Given the description of an element on the screen output the (x, y) to click on. 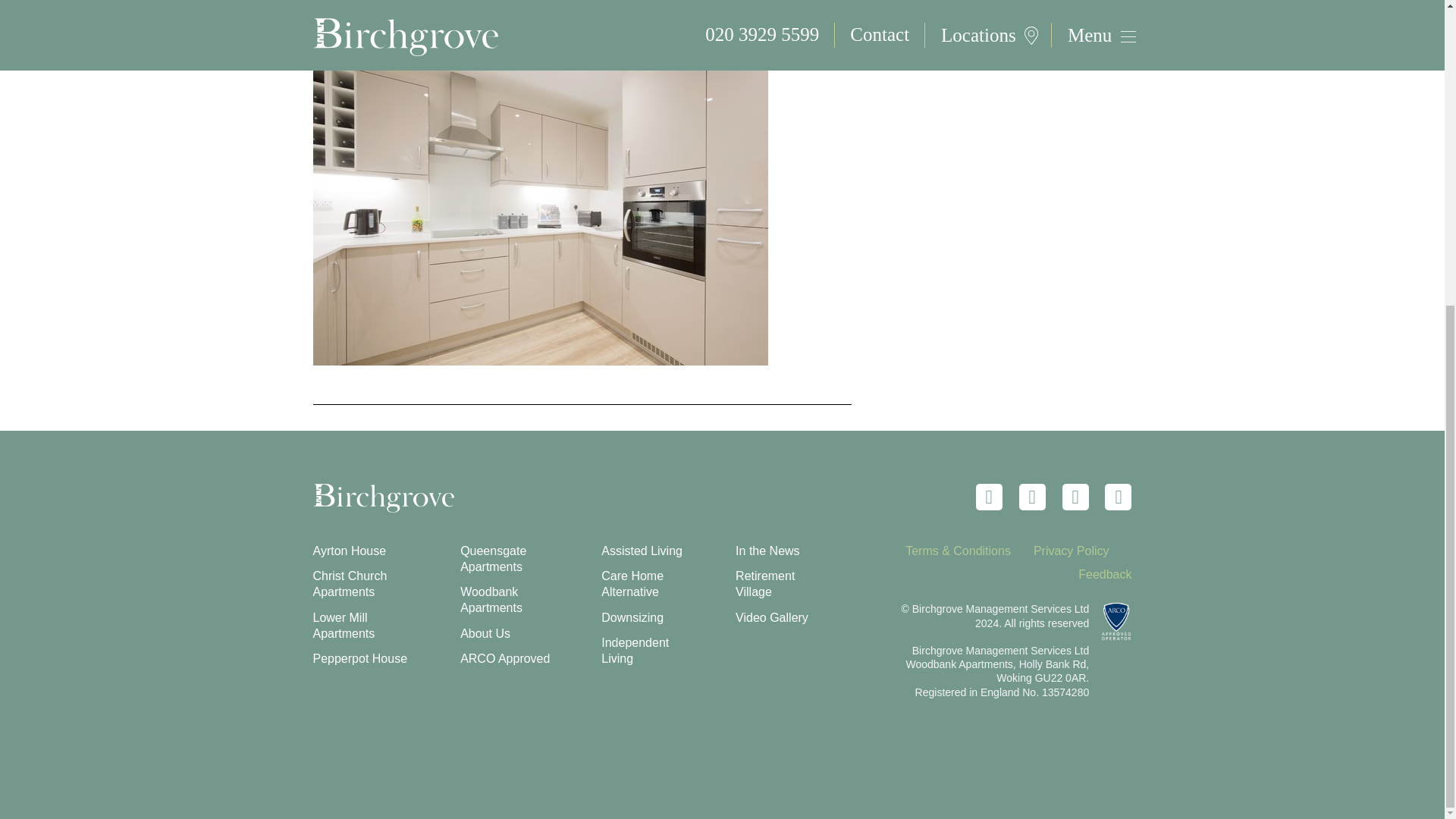
Woodbank Apartments (491, 599)
Queensgate Apartments (492, 558)
Christ Church Apartments (350, 583)
Pepperpot House (360, 658)
Lower Mill Apartments (343, 624)
Ayrton House (349, 550)
